Given the description of an element on the screen output the (x, y) to click on. 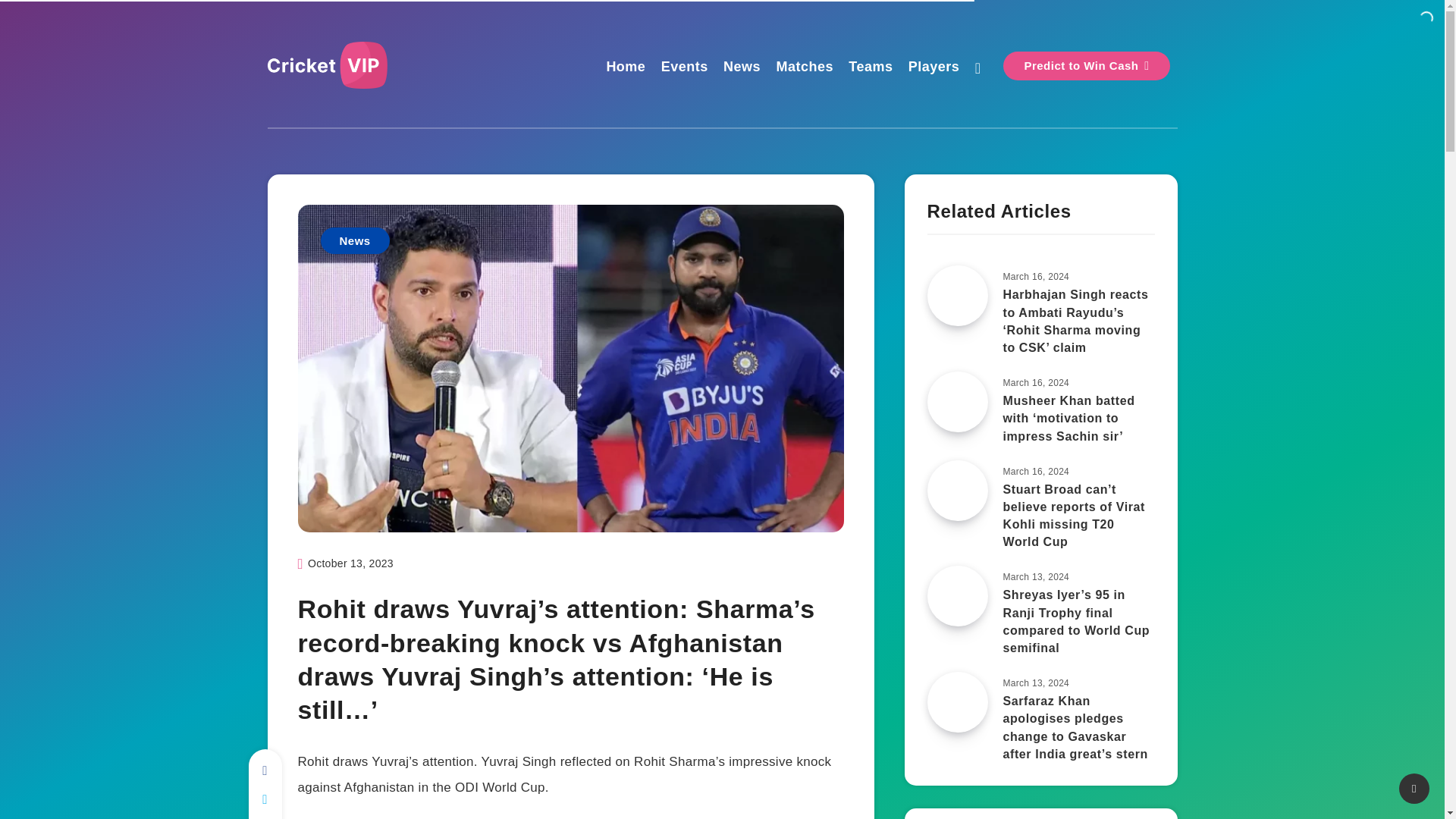
Events (684, 68)
Predict to Win Cash (1086, 65)
News (741, 68)
Teams (870, 68)
News (354, 240)
Home (625, 68)
Players (933, 68)
Matches (804, 68)
